Given the description of an element on the screen output the (x, y) to click on. 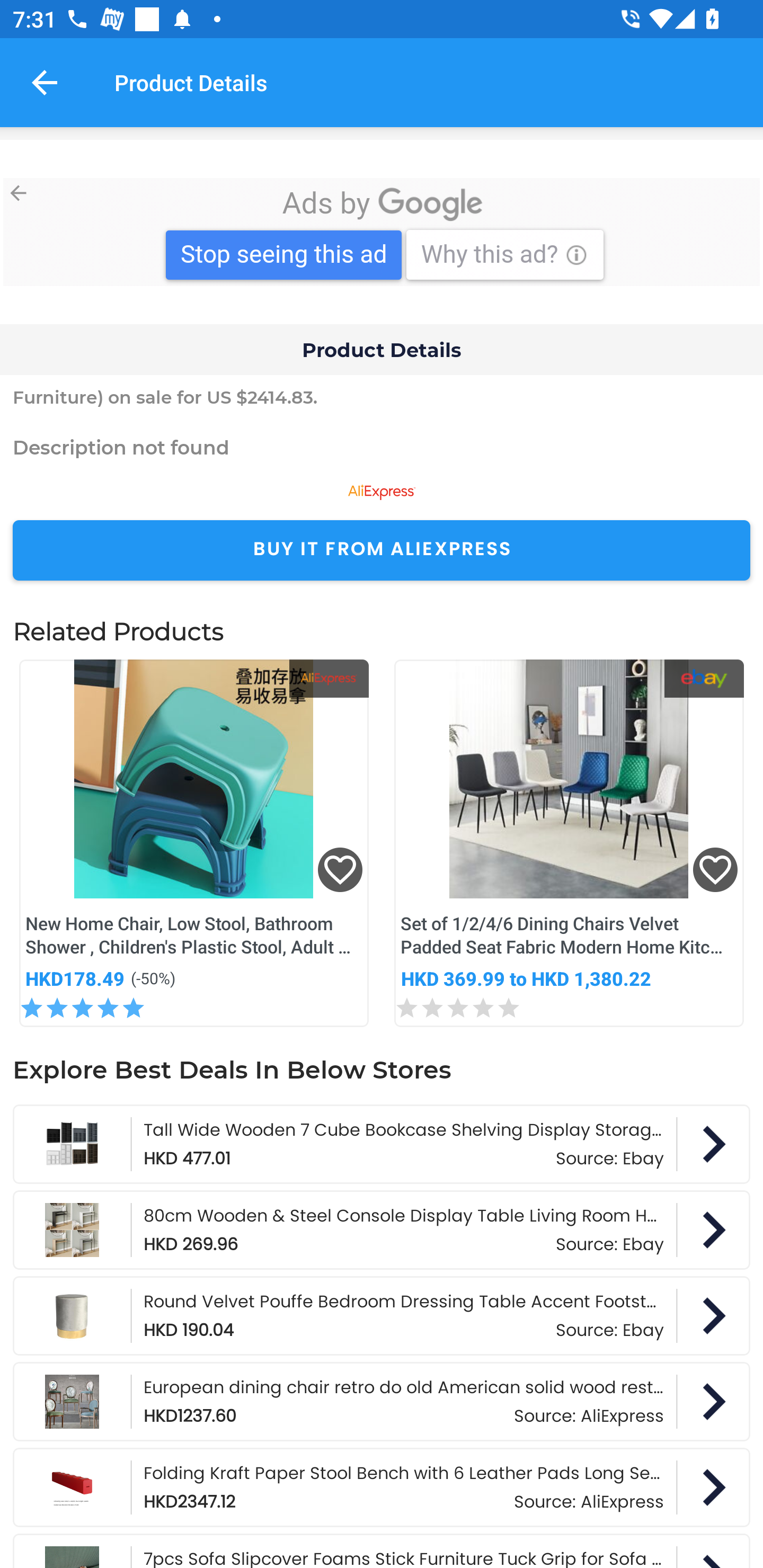
Navigate up (44, 82)
Description not found (381, 446)
BUY IT FROM ALIEXPRESS (381, 550)
